Given the description of an element on the screen output the (x, y) to click on. 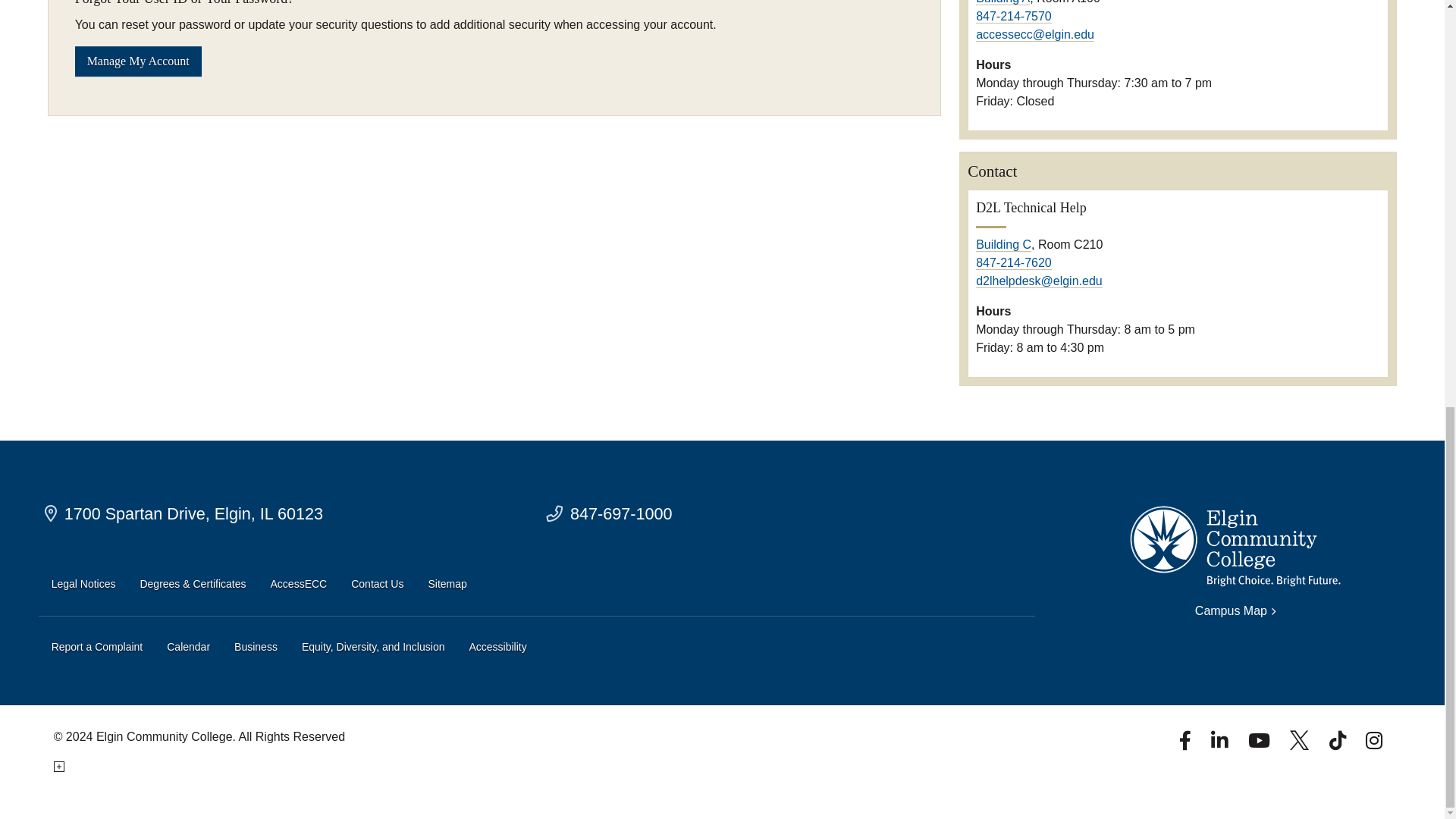
Sitemap (446, 584)
Business (256, 647)
Contact ECC for general information (608, 513)
Manage My Account (138, 60)
Call 847-214-7620 (1013, 263)
Calendar (188, 647)
Report a Complaint (96, 647)
Legal Notices (83, 584)
Equity, Diversity, and Inclusion (373, 647)
AccessECC (298, 584)
Spartan Drive Campus Map (184, 513)
Contact Us (376, 584)
Manage My Account (138, 60)
View Building C on campus map. (1002, 244)
Call 847-214-7570 (1013, 16)
